Given the description of an element on the screen output the (x, y) to click on. 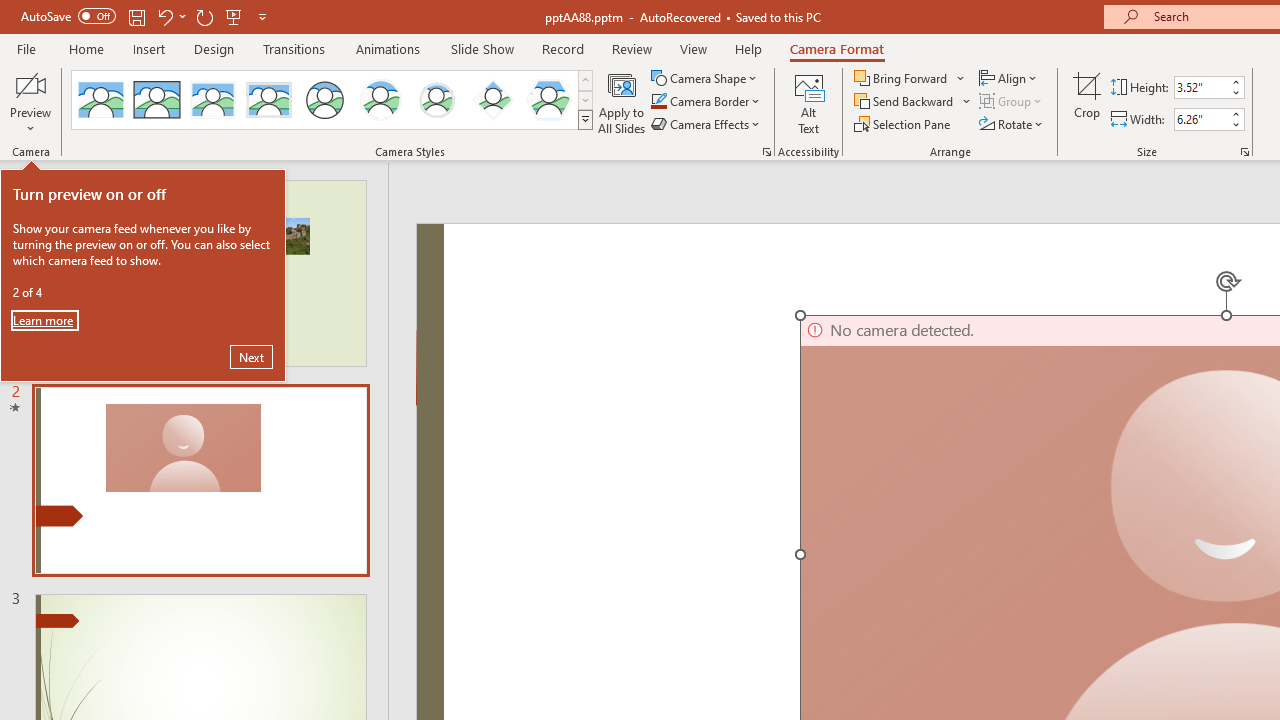
Camera Format (836, 48)
Enable Camera Preview (30, 84)
Bring Forward (902, 78)
Crop (1087, 102)
Simple Frame Rectangle (157, 100)
Camera Styles (585, 120)
Cameo Width (1201, 119)
Rotate (1012, 124)
